Given the description of an element on the screen output the (x, y) to click on. 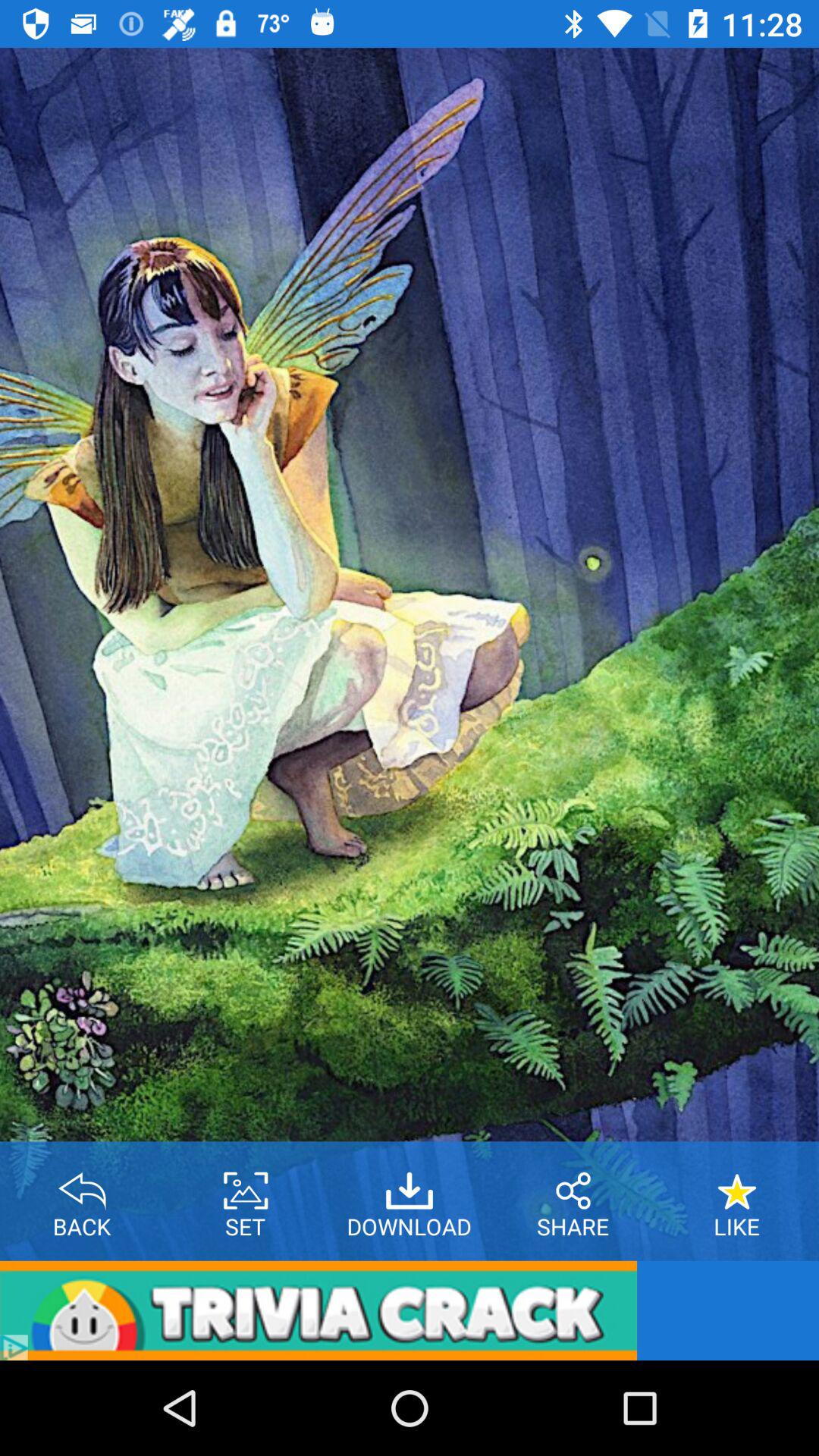
share image (573, 1185)
